Given the description of an element on the screen output the (x, y) to click on. 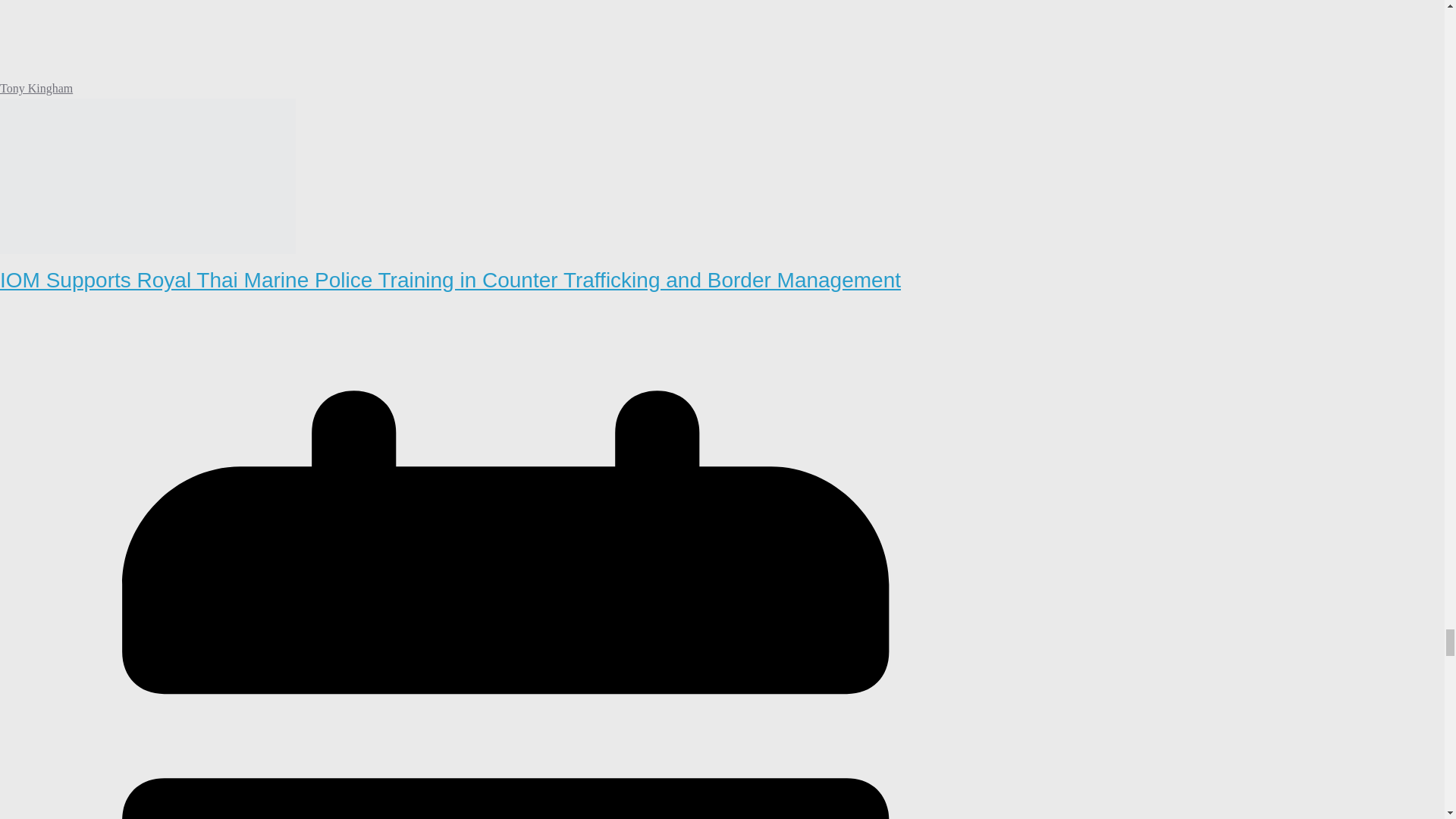
Tony Kingham (36, 88)
Tony Kingham (36, 88)
